Given the description of an element on the screen output the (x, y) to click on. 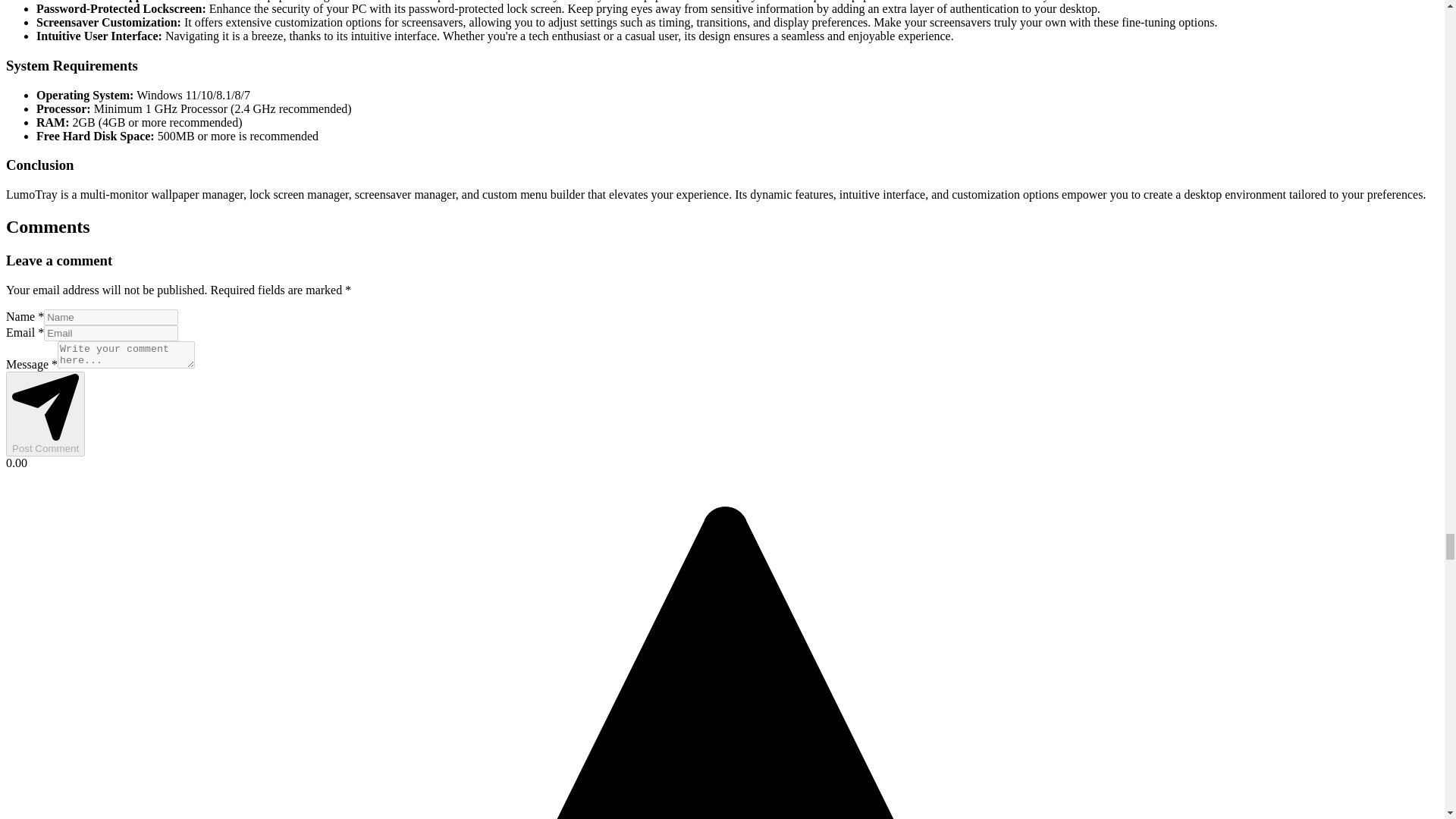
Post Comment (44, 413)
